Given the description of an element on the screen output the (x, y) to click on. 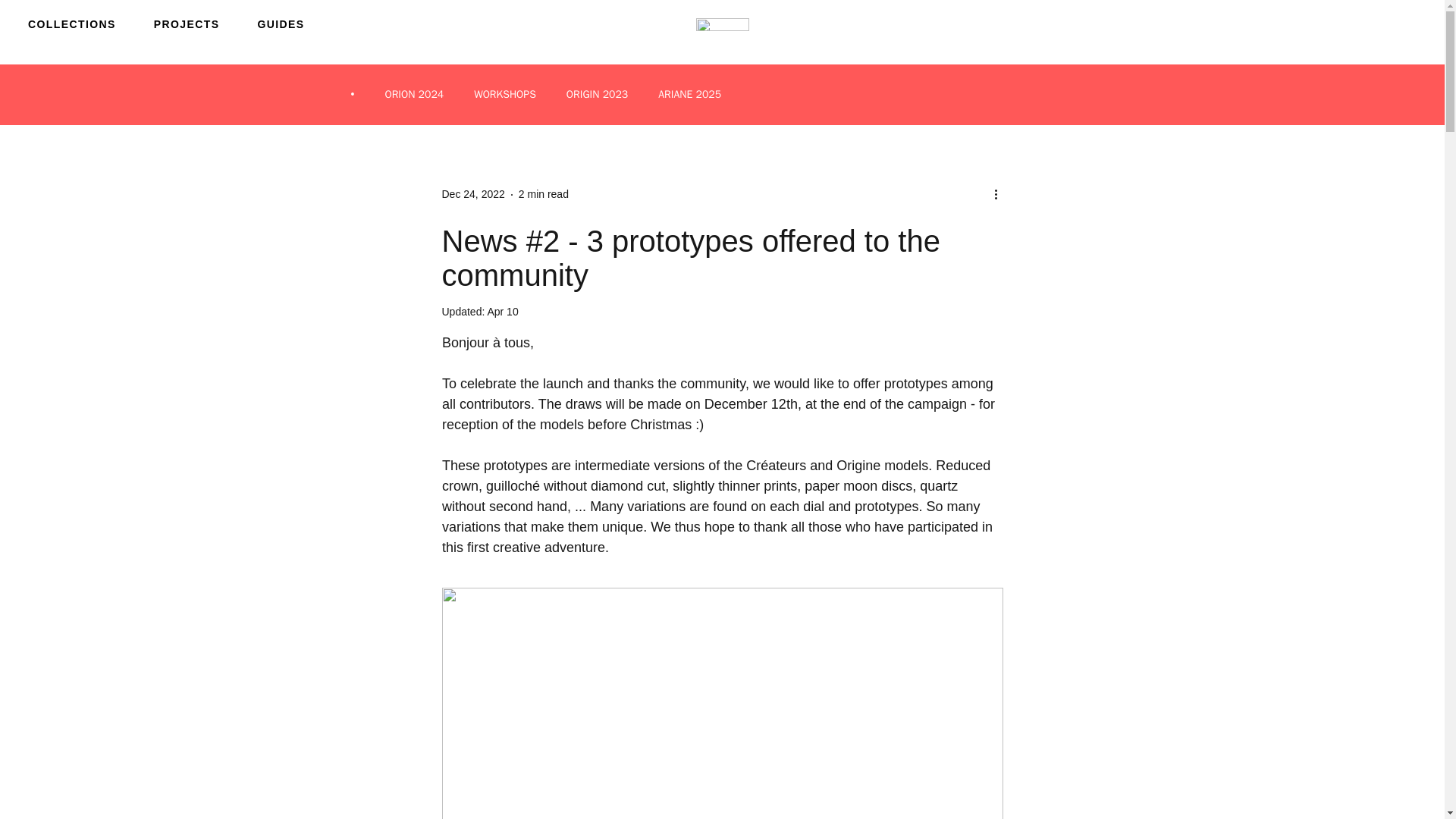
2 min read (543, 193)
ORION 2024 (414, 94)
ARIANE 2025 (689, 94)
WORKSHOPS (504, 94)
GUIDES (280, 24)
Apr 10 (502, 311)
ORIGIN 2023 (596, 94)
PROJECTS (186, 24)
Dec 24, 2022 (472, 193)
COLLECTIONS (71, 24)
